Given the description of an element on the screen output the (x, y) to click on. 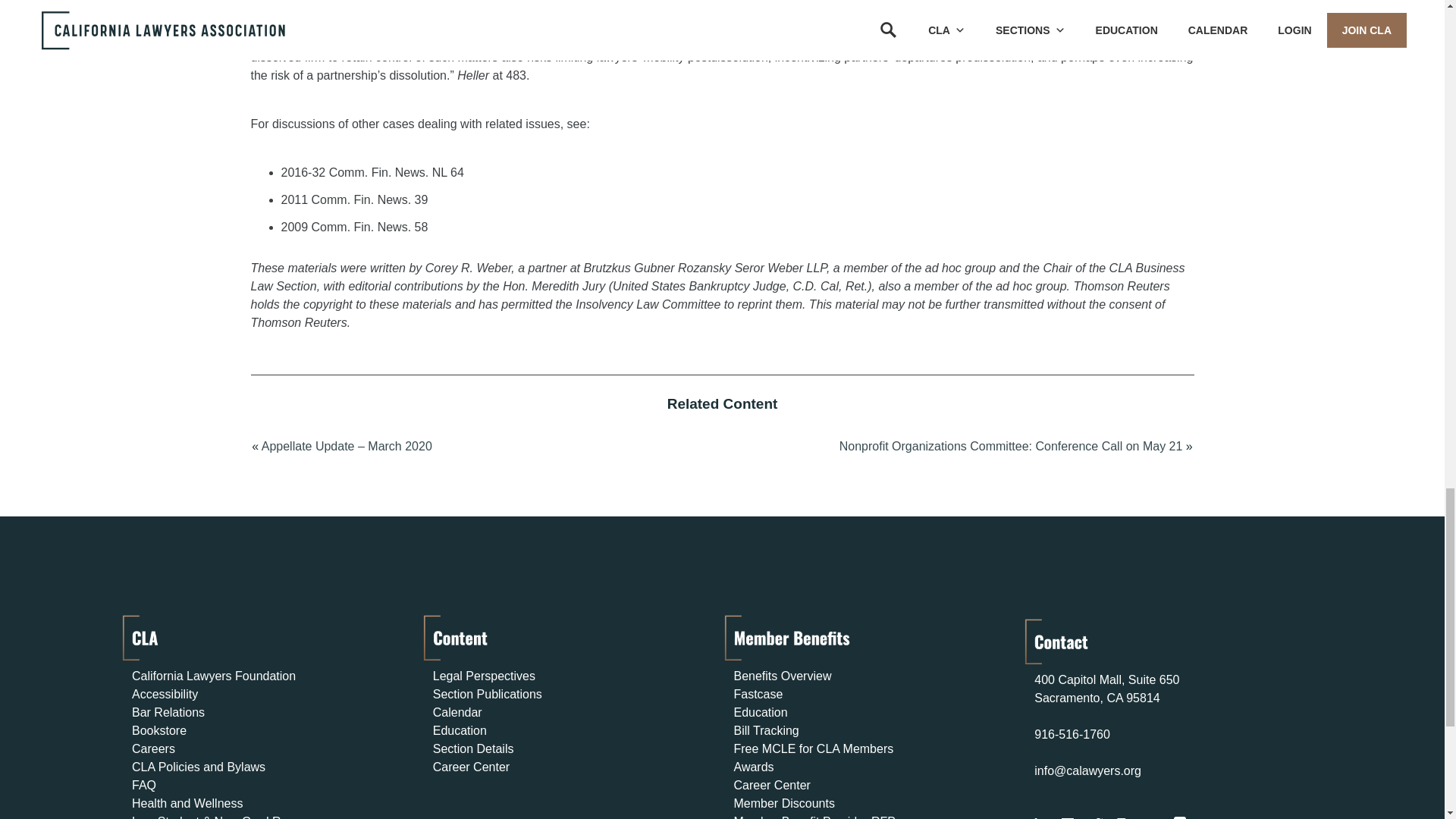
YouTube (1149, 816)
Flickr (1179, 816)
